Given the description of an element on the screen output the (x, y) to click on. 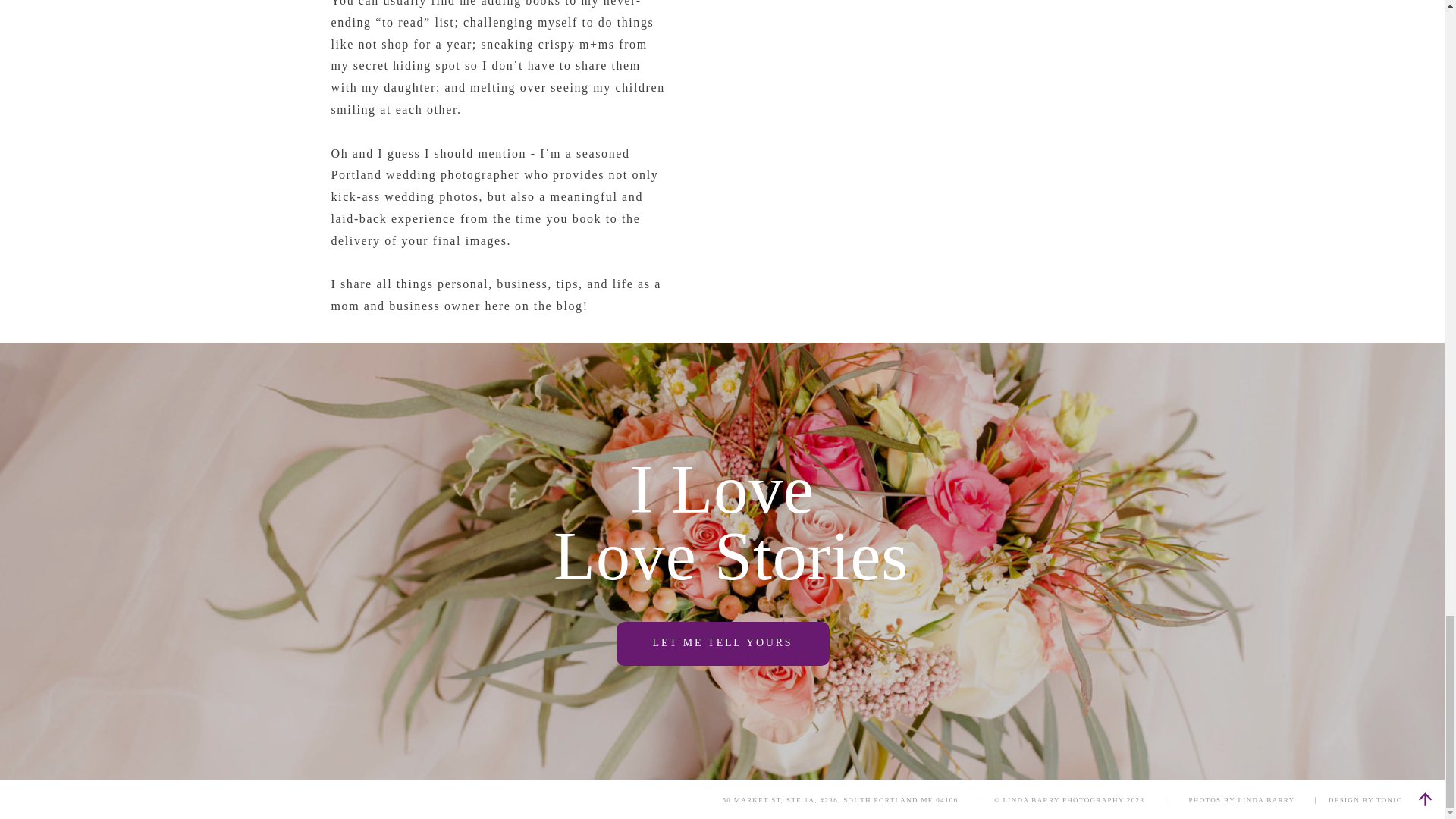
DESIGN BY TONIC (1364, 799)
LET ME TELL YOURS (721, 643)
